Given the description of an element on the screen output the (x, y) to click on. 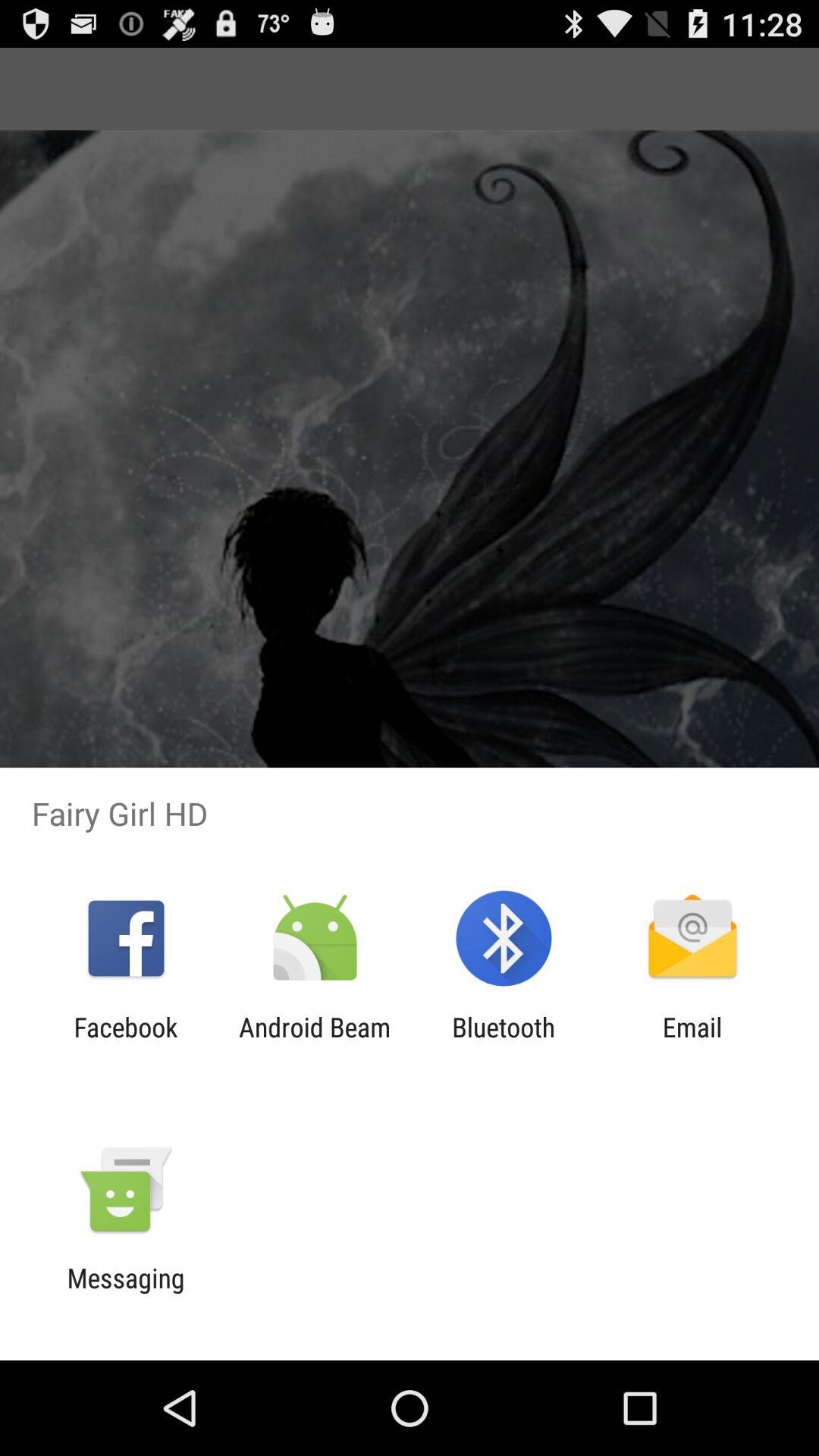
press android beam icon (314, 1042)
